Given the description of an element on the screen output the (x, y) to click on. 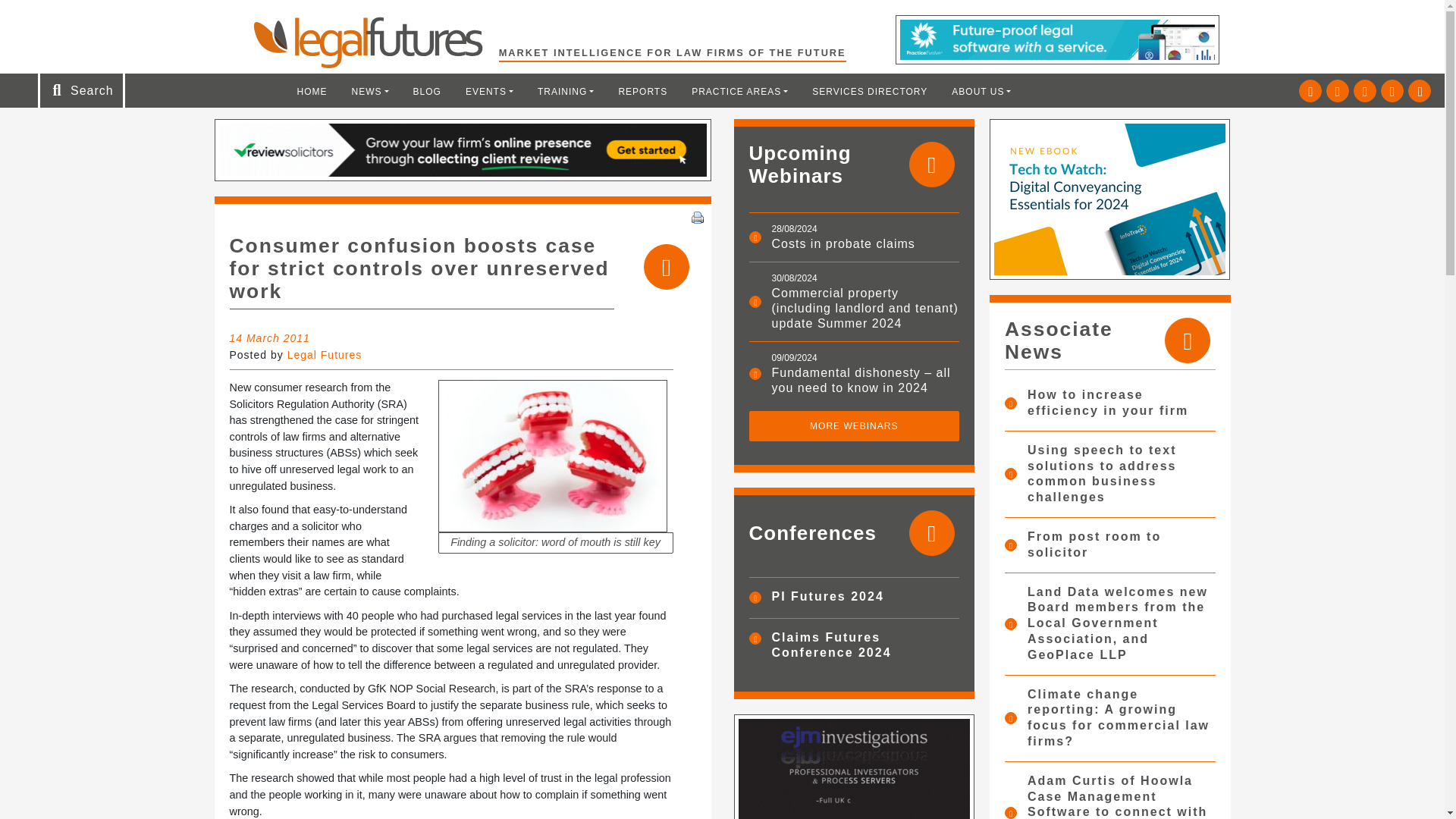
News (370, 91)
BLOG (426, 91)
NEWS (370, 91)
See Legal Futures on Rss (1419, 90)
Events (488, 91)
Search (51, 16)
EVENTS (488, 91)
training (565, 91)
See Legal Futures on Twitter (1310, 90)
TRAINING (565, 91)
